Given the description of an element on the screen output the (x, y) to click on. 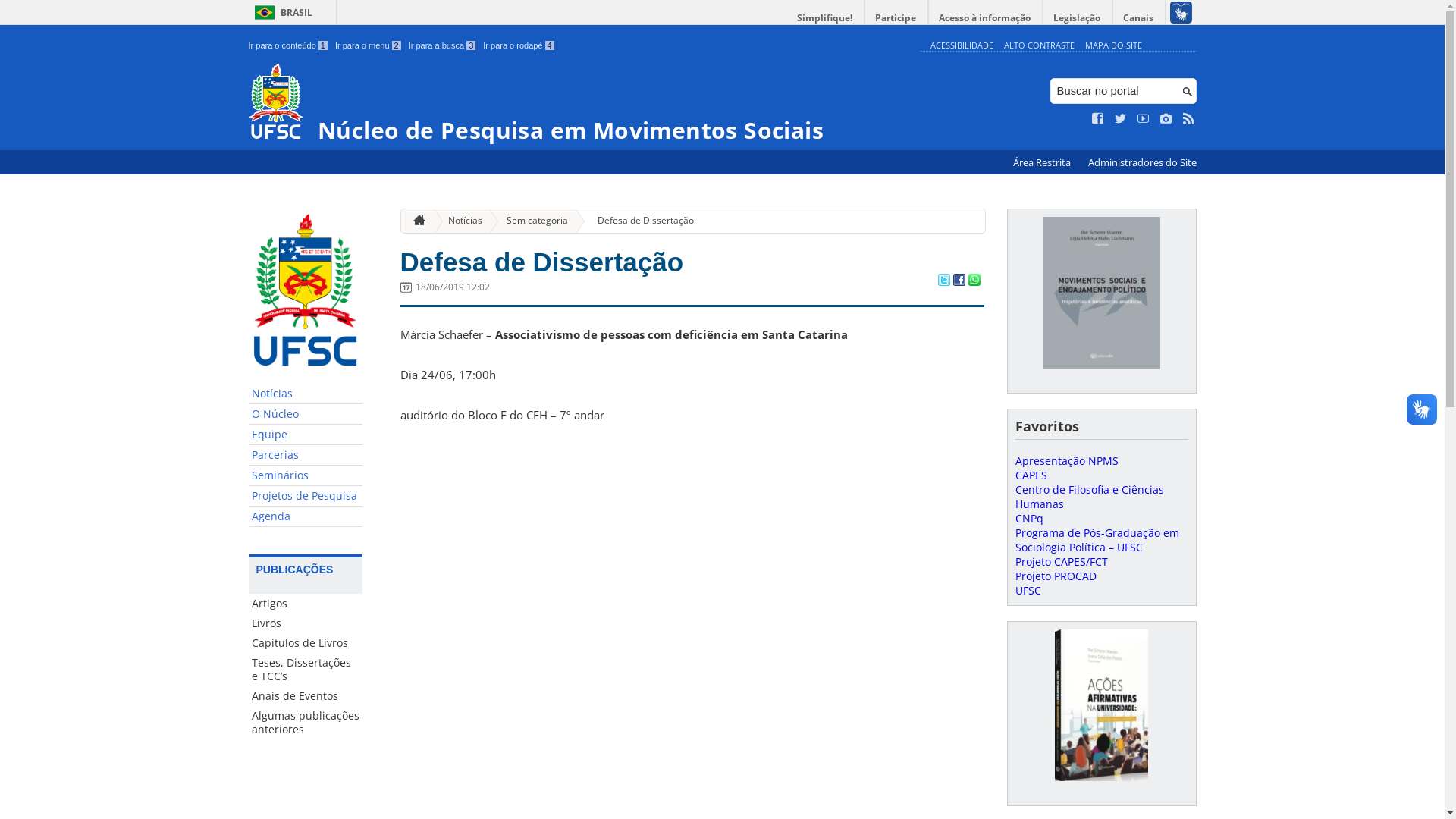
Administradores do Site Element type: text (1141, 162)
CNPq Element type: text (1028, 518)
Parcerias Element type: text (305, 455)
Equipe Element type: text (305, 434)
Participe Element type: text (895, 18)
Anais de Eventos Element type: text (305, 696)
Simplifique! Element type: text (825, 18)
Veja no Instagram Element type: hover (1166, 118)
UFSC Element type: text (1027, 590)
Agenda Element type: text (305, 516)
Artigos Element type: text (305, 603)
Sem categoria Element type: text (531, 220)
CAPES Element type: text (1030, 474)
Livros Element type: text (305, 623)
Ir para a busca 3 Element type: text (442, 45)
Compartilhar no Twitter Element type: hover (943, 280)
Curta no Facebook Element type: hover (1098, 118)
Siga no Twitter Element type: hover (1120, 118)
Ir para o menu 2 Element type: text (368, 45)
ALTO CONTRASTE Element type: text (1039, 44)
Projeto CAPES/FCT Element type: text (1060, 561)
MAPA DO SITE Element type: text (1112, 44)
ACESSIBILIDADE Element type: text (960, 44)
Compartilhar no WhatsApp Element type: hover (973, 280)
Canais Element type: text (1138, 18)
BRASIL Element type: text (280, 12)
Projetos de Pesquisa Element type: text (305, 496)
Compartilhar no Facebook Element type: hover (958, 280)
Projeto PROCAD Element type: text (1054, 575)
